Given the description of an element on the screen output the (x, y) to click on. 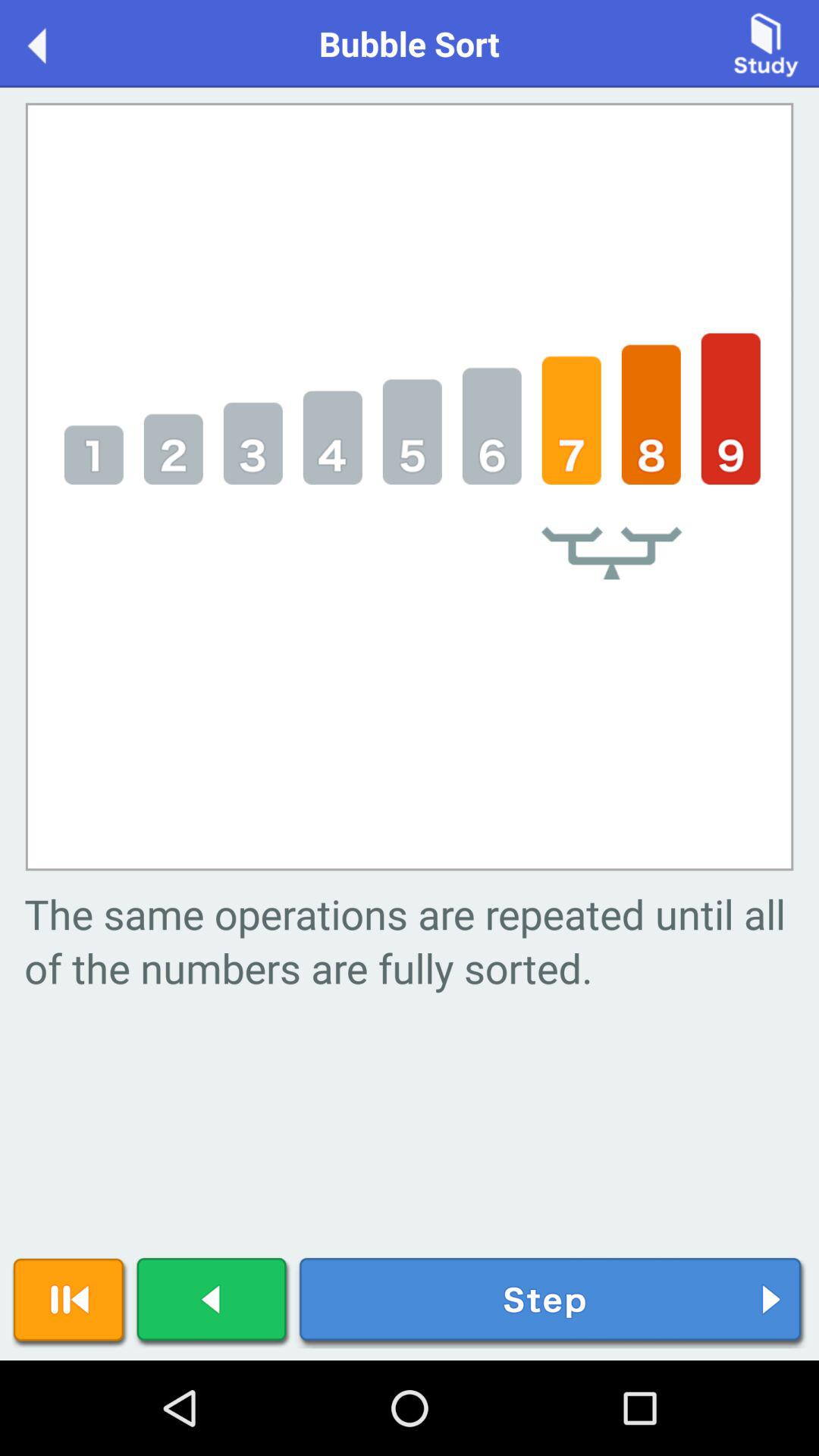
press to study (766, 42)
